Given the description of an element on the screen output the (x, y) to click on. 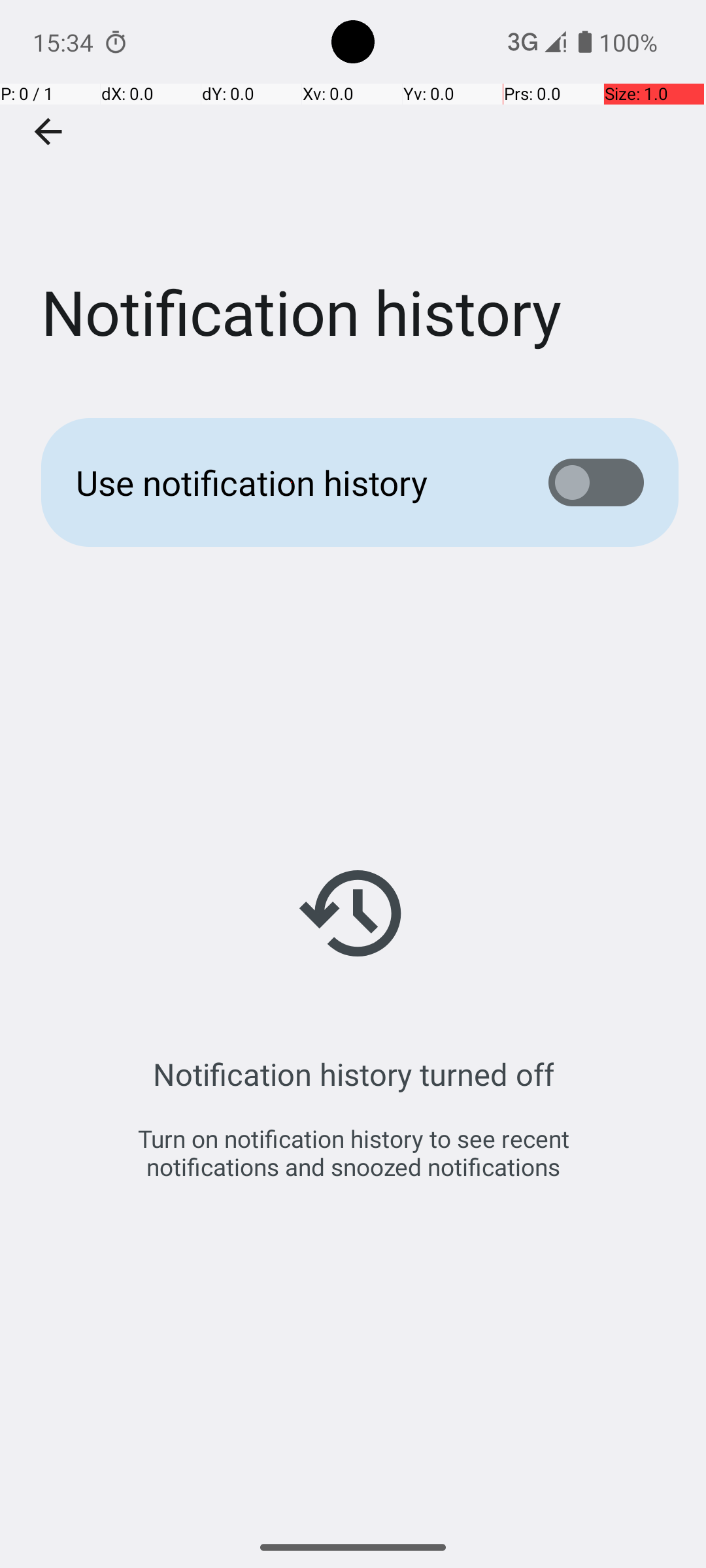
Notification history turned off Element type: android.widget.TextView (352, 1073)
Turn on notification history to see recent notifications and snoozed notifications Element type: android.widget.TextView (352, 1152)
Use notification history Element type: android.widget.TextView (291, 482)
